Given the description of an element on the screen output the (x, y) to click on. 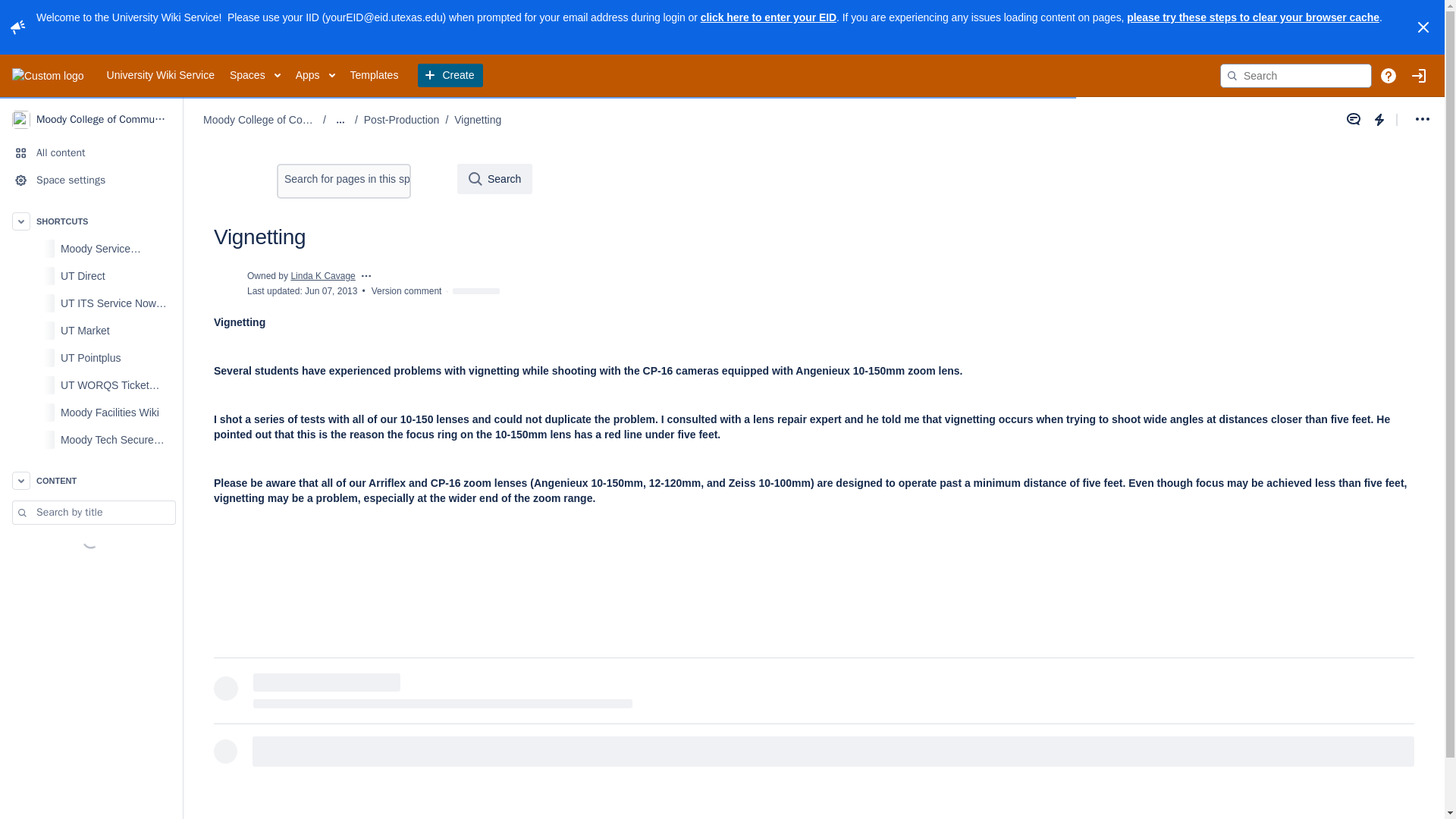
Moody Facilities Wiki (90, 411)
Moody Tech Secure Wiki (90, 439)
Moody Service Manager Ticket System (90, 248)
Create (450, 75)
UT Pointplus (90, 357)
Vignetting (477, 119)
Spaces (255, 75)
Post-Production (401, 119)
UT ITS Service Now Ticket System (90, 302)
CONTENT (90, 480)
